Given the description of an element on the screen output the (x, y) to click on. 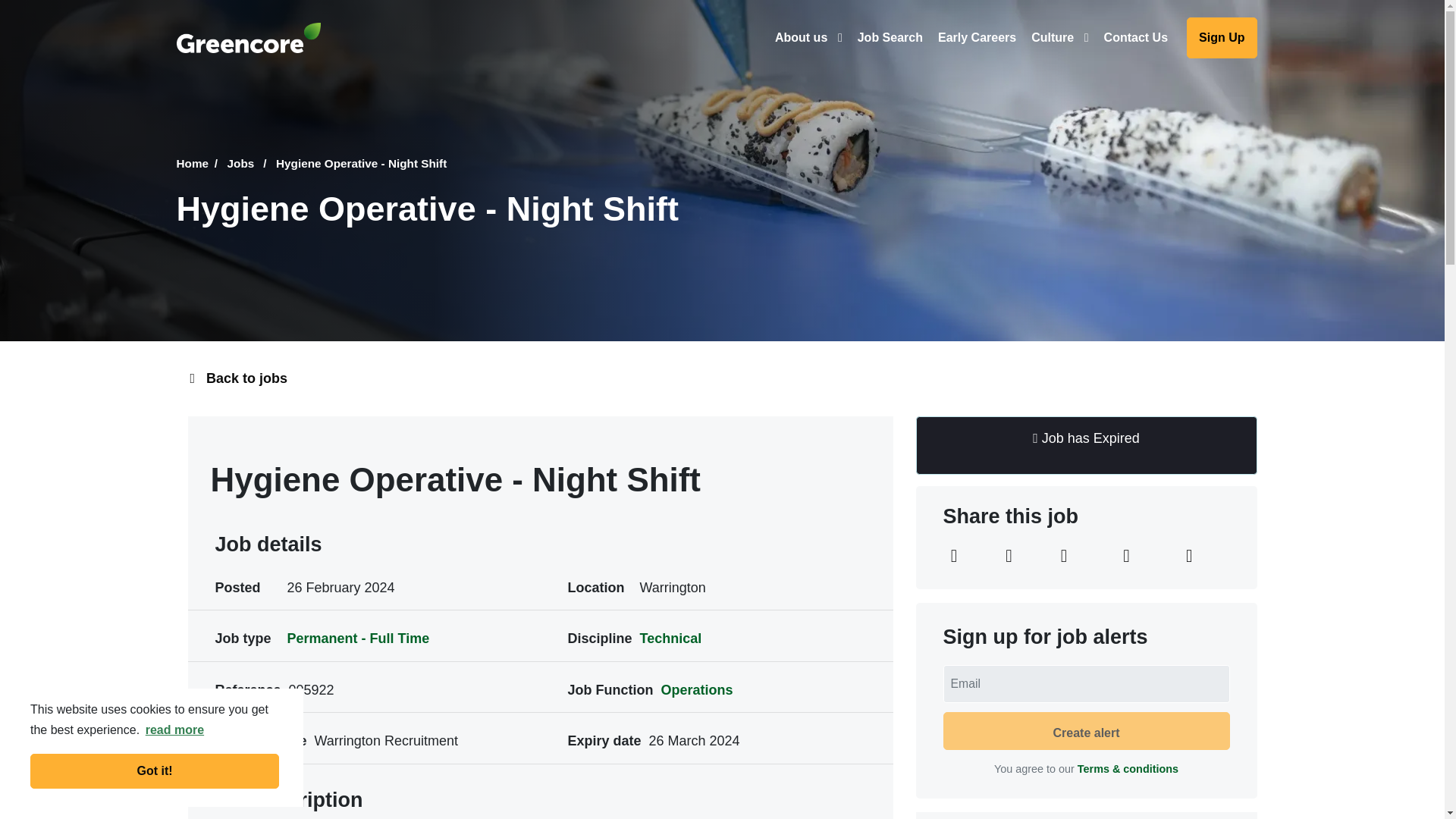
Got it! (154, 770)
Home (199, 164)
read more (174, 730)
Jobs (249, 164)
Contact Us (1135, 37)
Hygiene Operative - Night Shift (361, 164)
Early Careers (976, 37)
About us (808, 37)
Culture (1058, 37)
Sign Up (1221, 37)
